Given the description of an element on the screen output the (x, y) to click on. 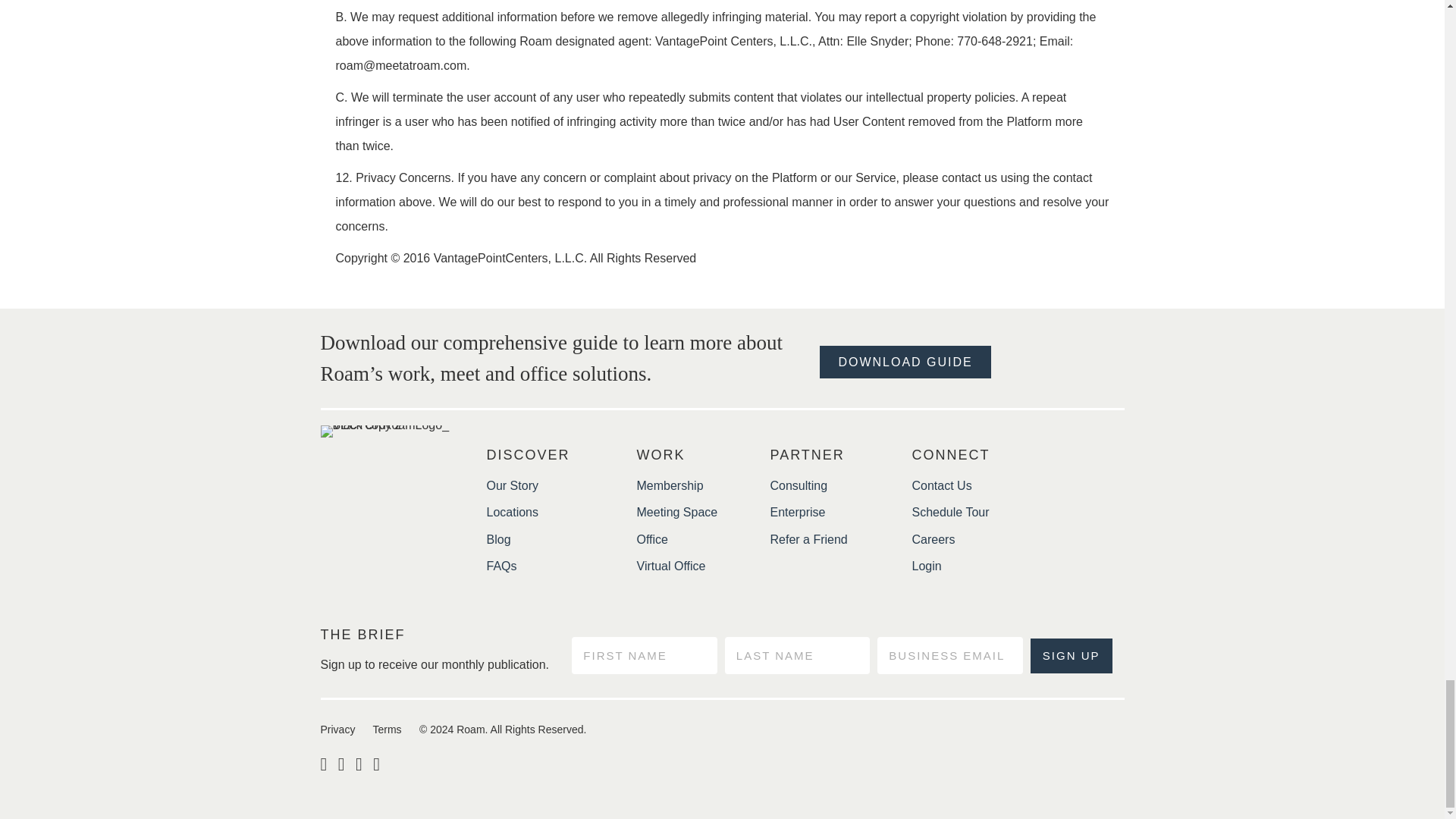
Our Story (512, 485)
FAQs (501, 565)
Consulting (799, 485)
Locations (512, 512)
Schedule Tour (949, 512)
Careers (933, 539)
Membership (670, 485)
Privacy (337, 729)
Office (652, 539)
SIGN UP (1071, 655)
